Given the description of an element on the screen output the (x, y) to click on. 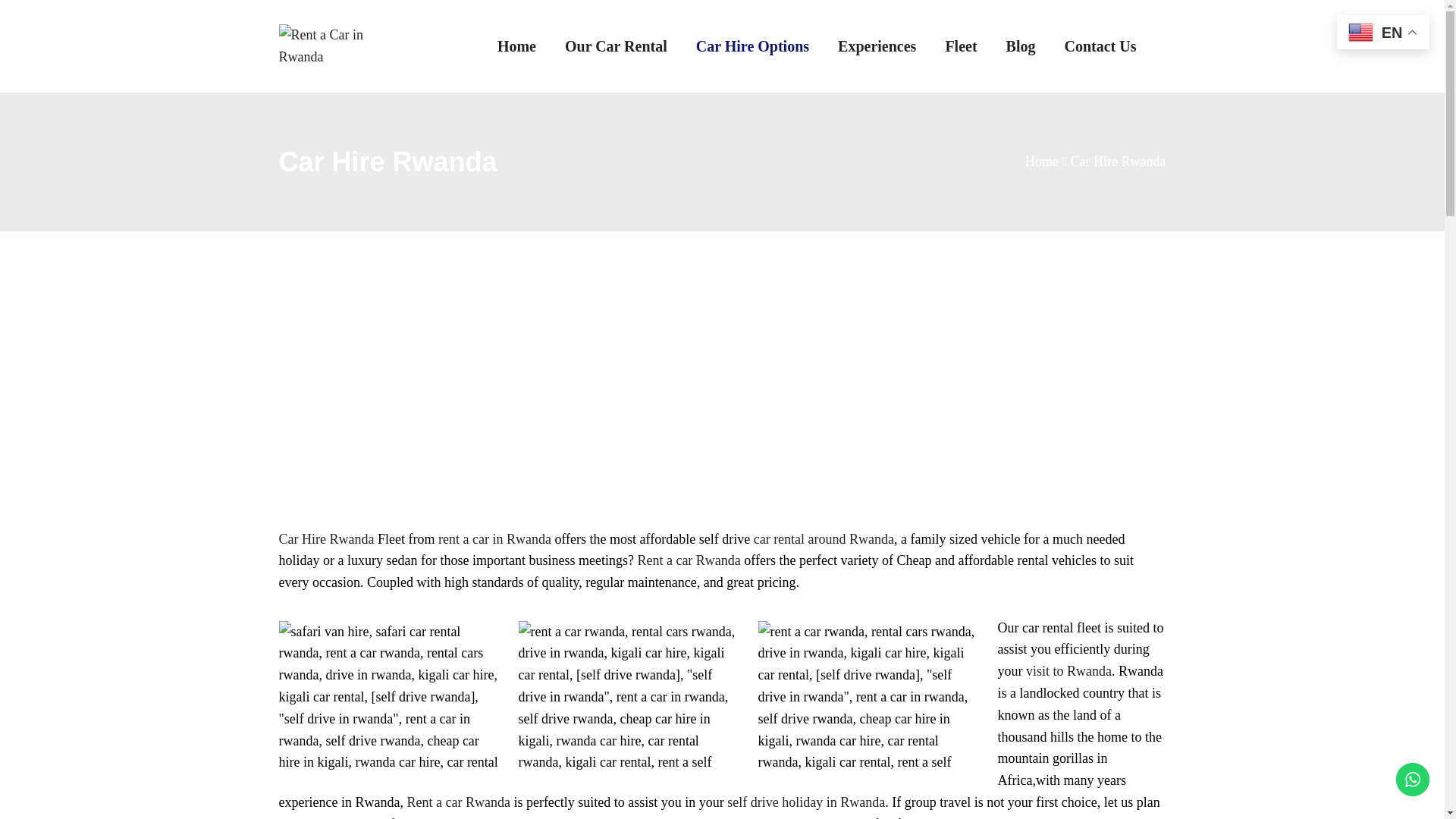
Home (516, 45)
Our Car Rental (615, 45)
Car Hire Options (752, 45)
